Given the description of an element on the screen output the (x, y) to click on. 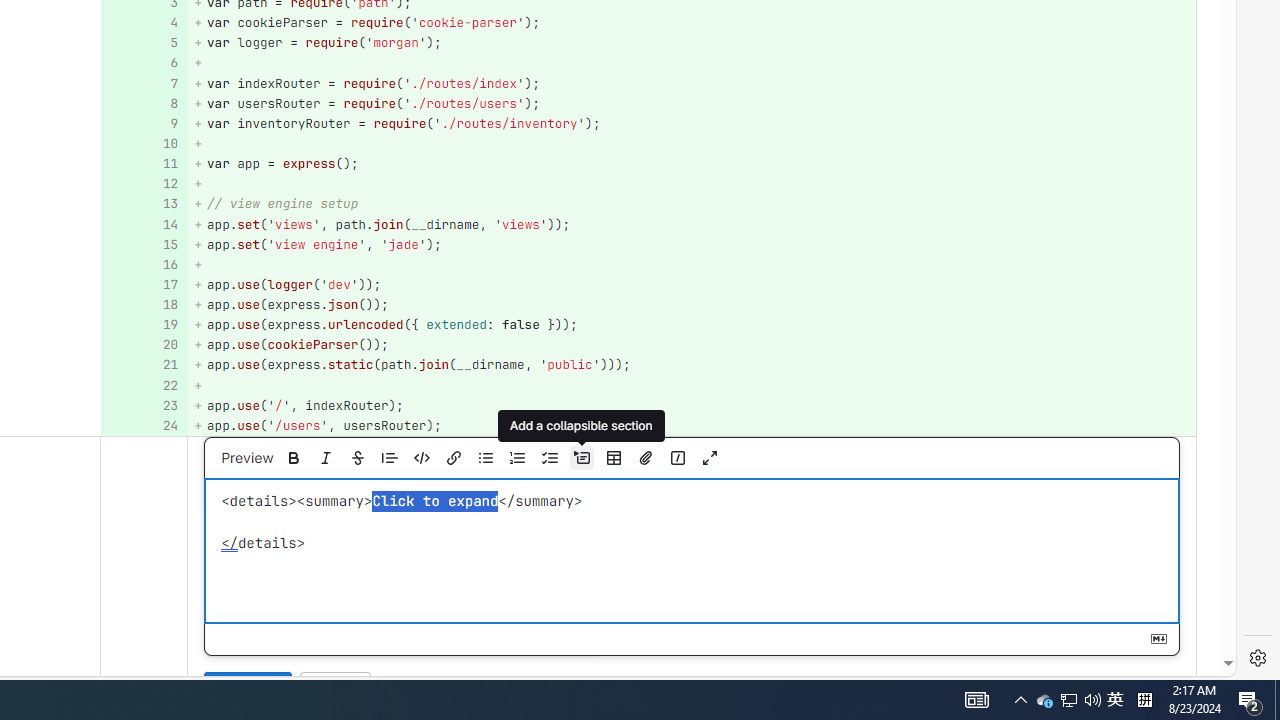
Add a comment to this line 14 (144, 223)
Add a comment to this line 6 (144, 63)
+ app.use(express.static(path.join(__dirname, 'public')));  (691, 364)
Add a comment to this line 10 (144, 143)
24 (141, 425)
+ var cookieParser = require('cookie-parser');  (691, 22)
+  (691, 385)
Add a comment to this line 18 (144, 305)
Class: s12 (137, 424)
23 (141, 405)
Add a comment to this line 15 (144, 244)
+ app.use('/users', usersRouter);  (691, 425)
Add a numbered list (517, 457)
Add a collapsible section (581, 425)
Class: div-dropzone-icon s24 (689, 551)
